Given the description of an element on the screen output the (x, y) to click on. 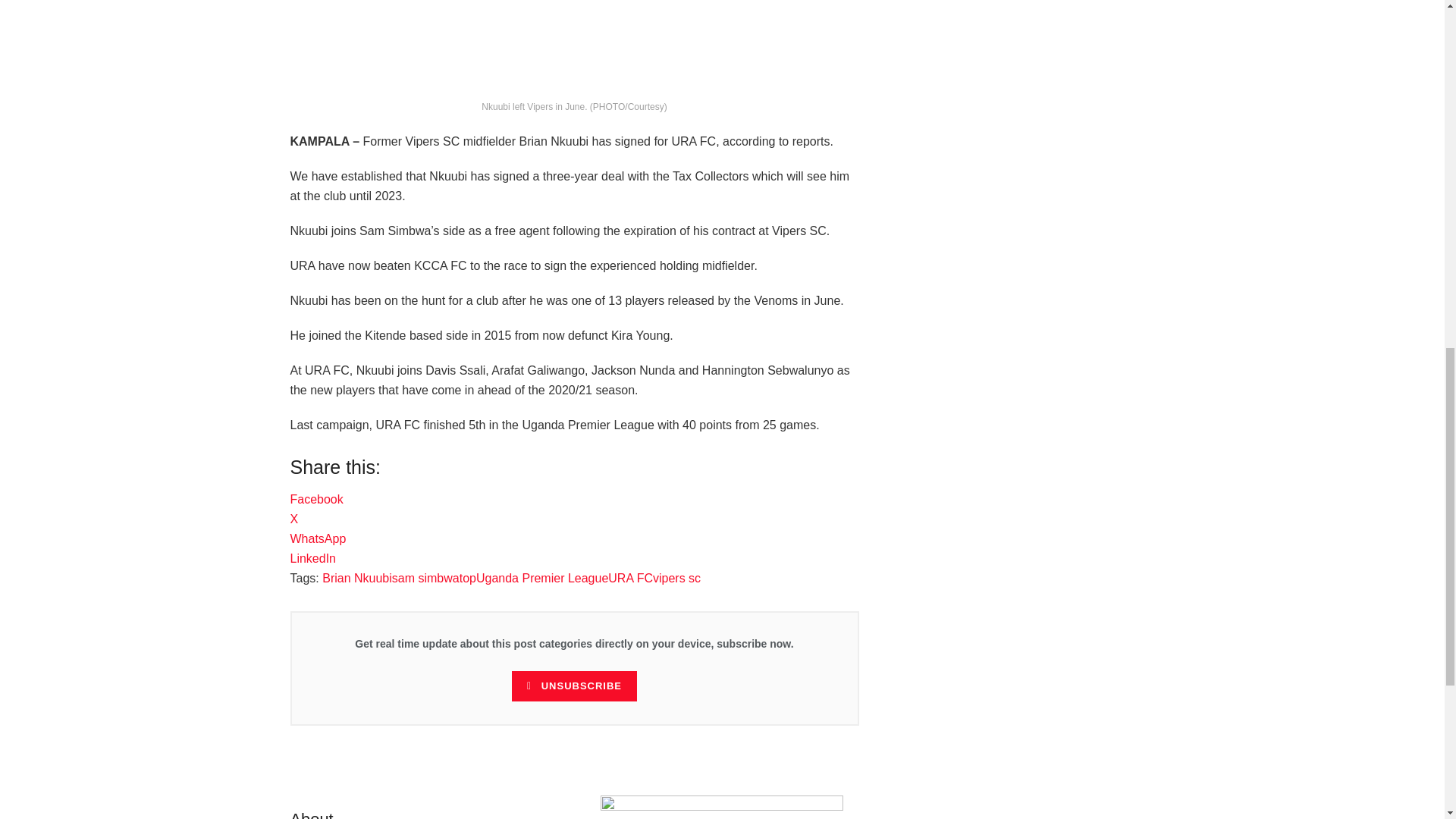
Click to share on Facebook (315, 499)
Click to share on WhatsApp (317, 538)
Click to share on LinkedIn (312, 558)
